Given the description of an element on the screen output the (x, y) to click on. 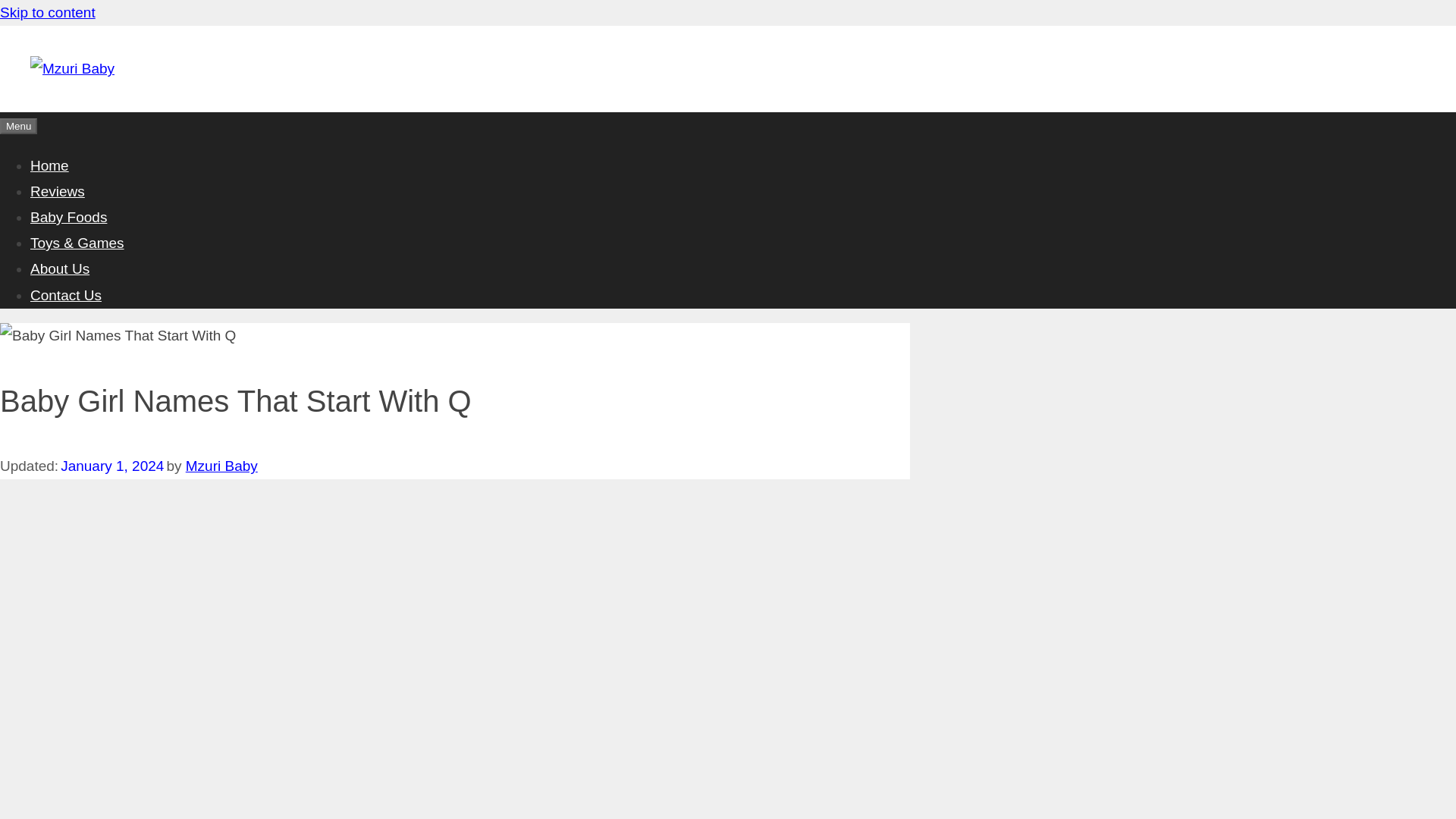
Baby Foods (68, 217)
Reviews (57, 191)
Mzuri Baby (221, 465)
Home (49, 165)
Skip to content (48, 12)
Menu (18, 125)
About Us (59, 268)
Skip to content (48, 12)
Contact Us (65, 294)
View all posts by Mzuri Baby (221, 465)
